Given the description of an element on the screen output the (x, y) to click on. 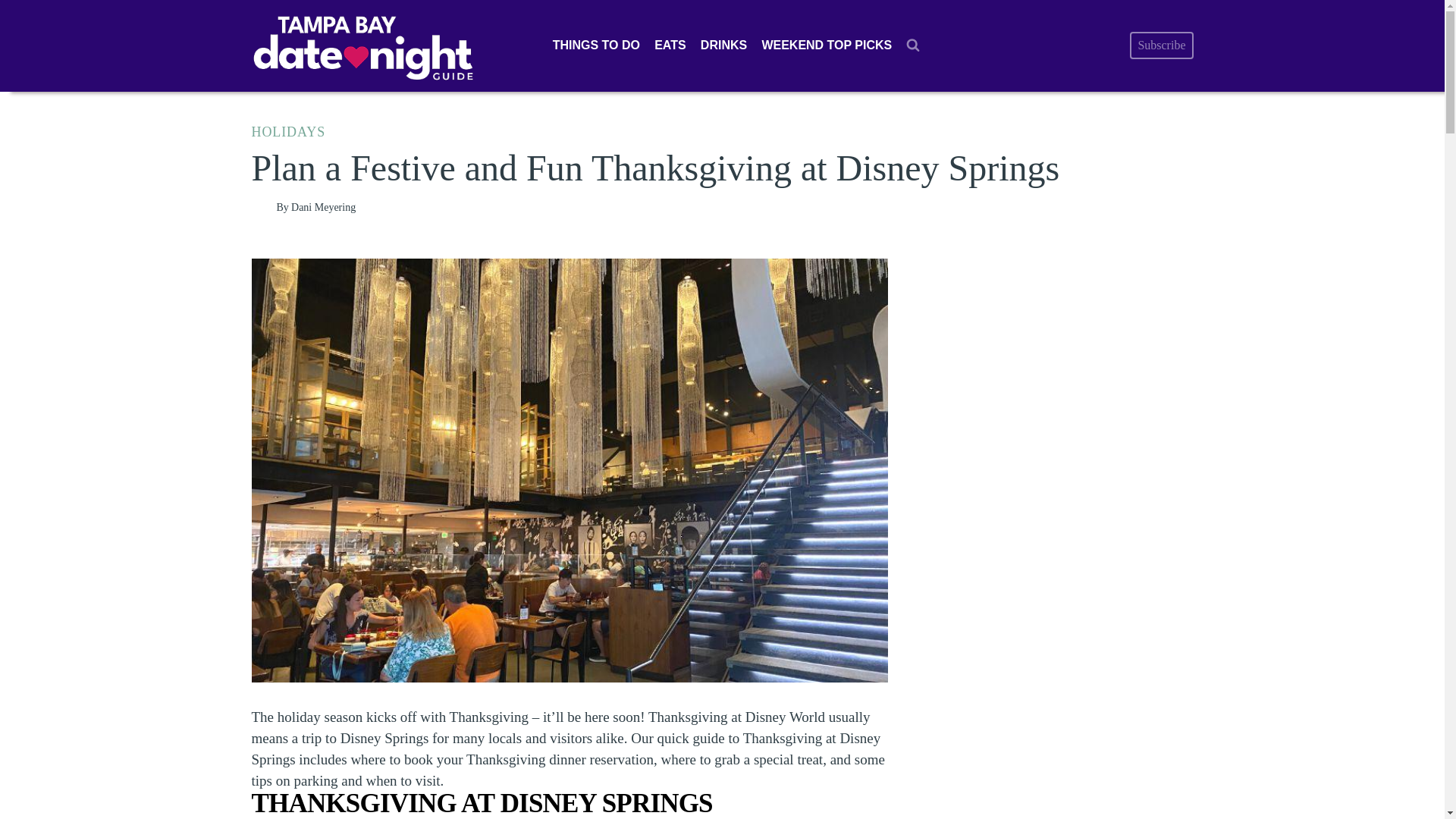
HOLIDAYS (288, 131)
EATS (670, 45)
DRINKS (723, 45)
WEEKEND TOP PICKS (826, 45)
Subscribe (1160, 44)
THINGS TO DO (595, 45)
Dani Meyering (323, 206)
